Given the description of an element on the screen output the (x, y) to click on. 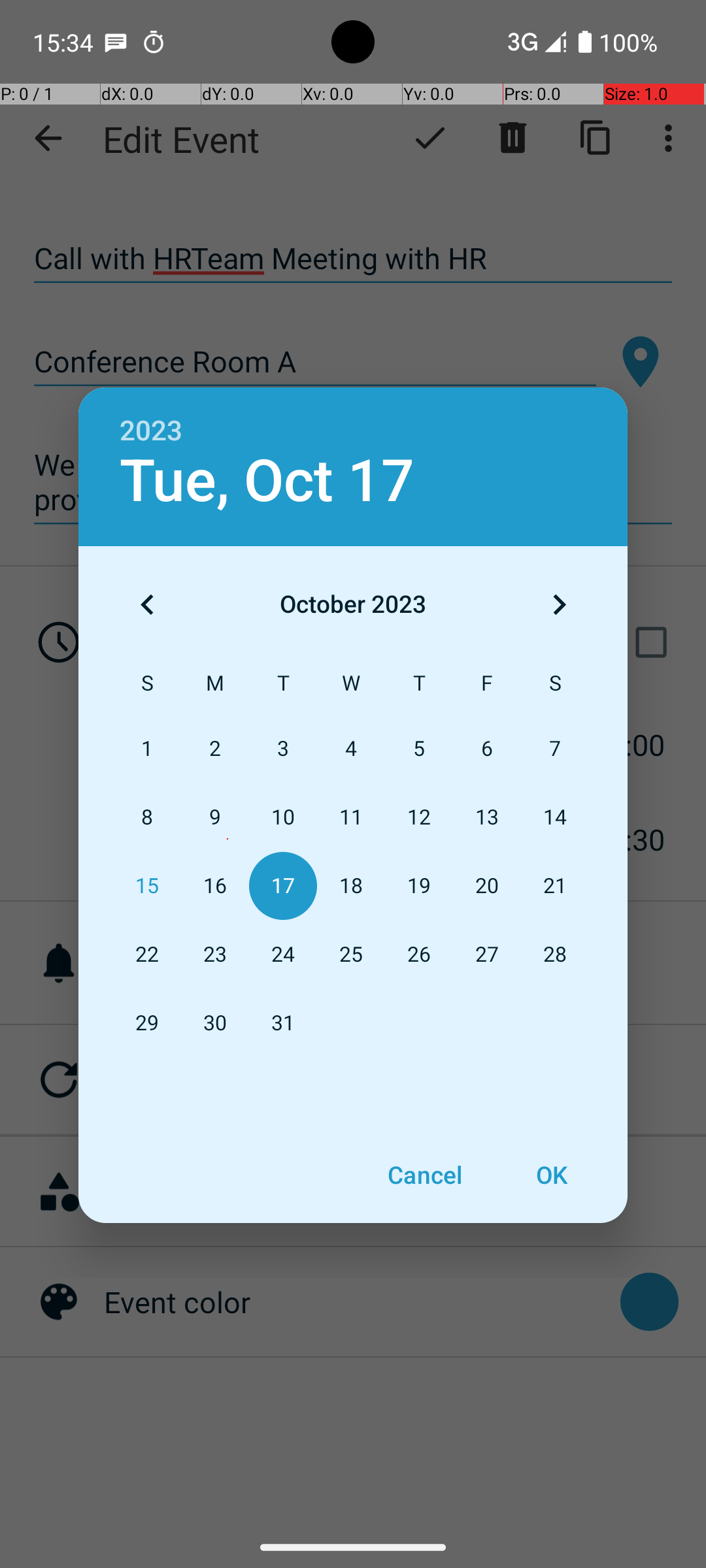
Tue, Oct 17 Element type: android.widget.TextView (267, 480)
